Given the description of an element on the screen output the (x, y) to click on. 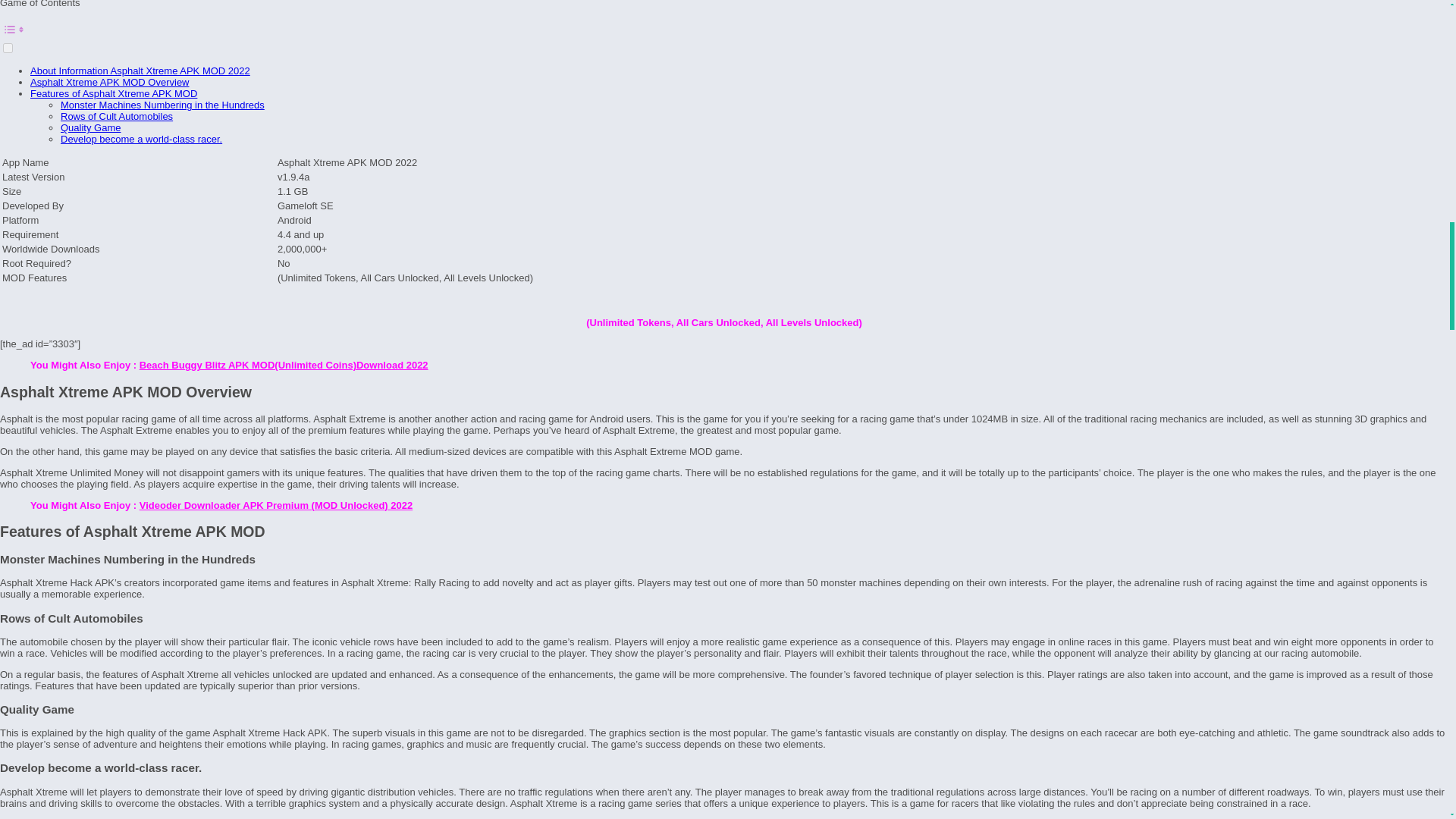
Features of Asphalt Xtreme APK MOD (113, 93)
on (7, 48)
Quality Game (90, 127)
Asphalt Xtreme APK MOD Overview (109, 81)
About Information Asphalt Xtreme APK MOD 2022 (140, 70)
Monster Machines Numbering in the Hundreds (162, 104)
Rows of Cult Automobiles (117, 116)
